Given the description of an element on the screen output the (x, y) to click on. 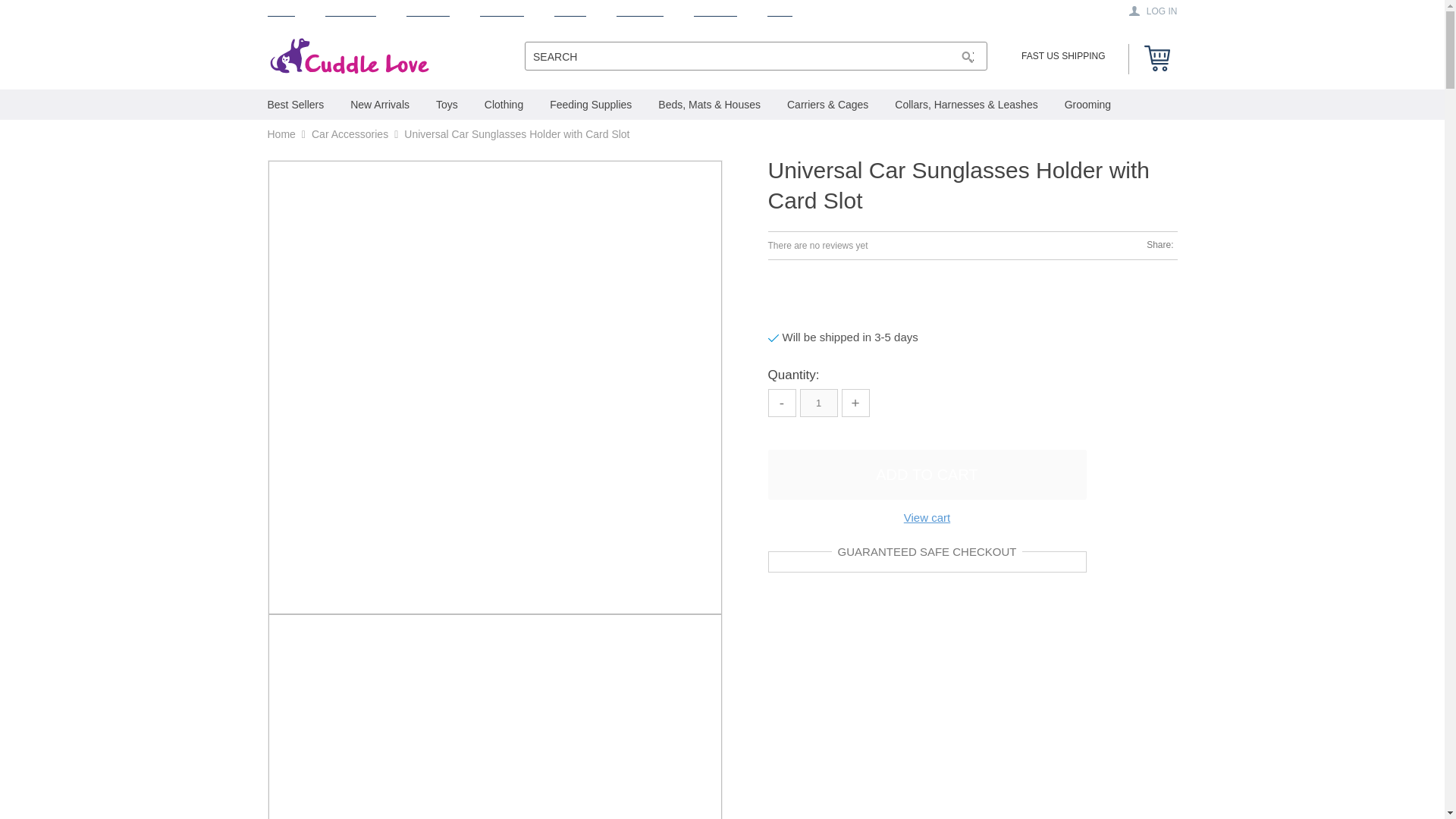
9722-d39d6d.jpg (494, 716)
PRODUCTS (349, 11)
HOME (280, 11)
1 (818, 402)
